Given the description of an element on the screen output the (x, y) to click on. 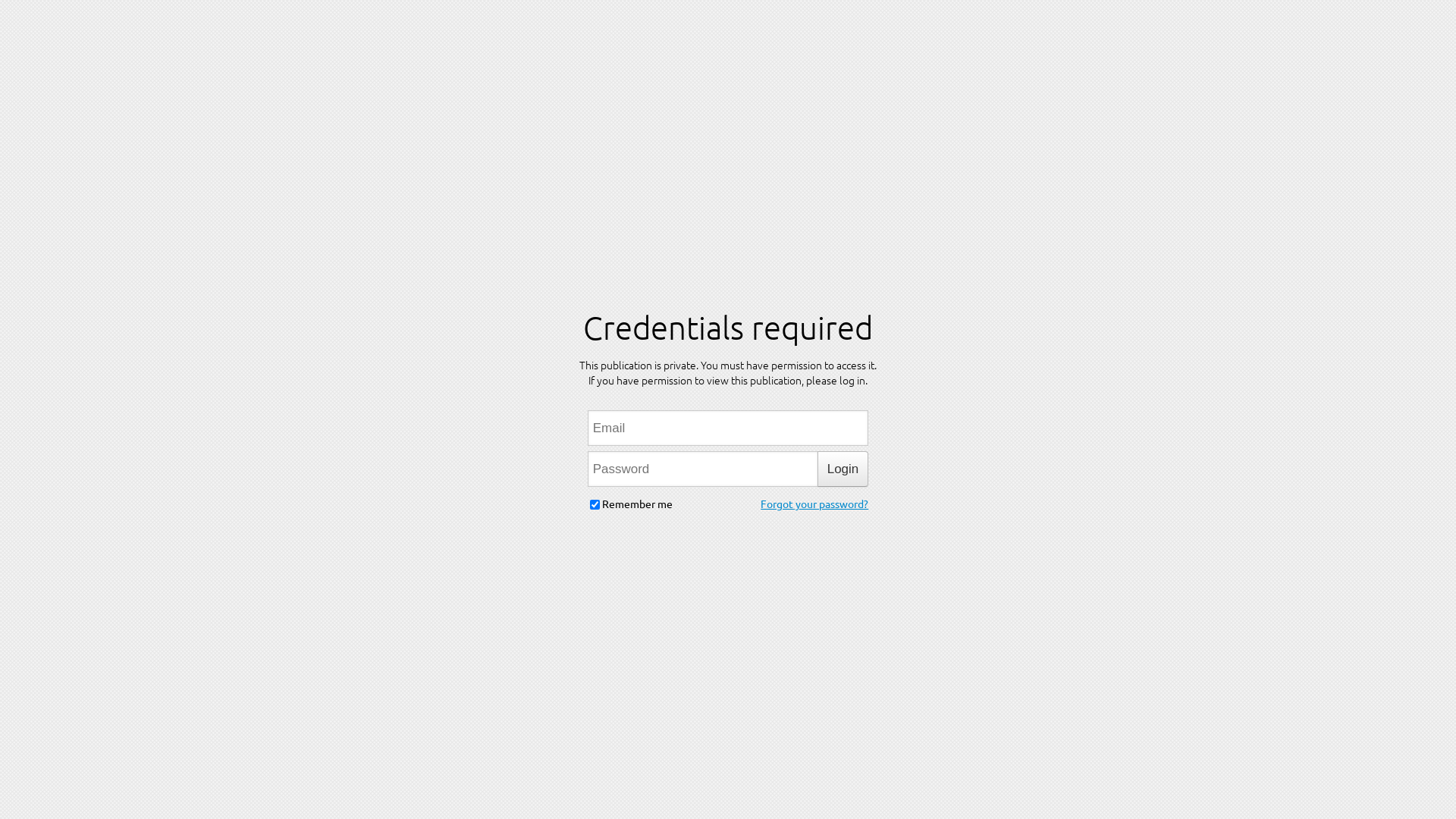
Login Element type: text (843, 468)
Forgot your password? Element type: text (814, 501)
